Given the description of an element on the screen output the (x, y) to click on. 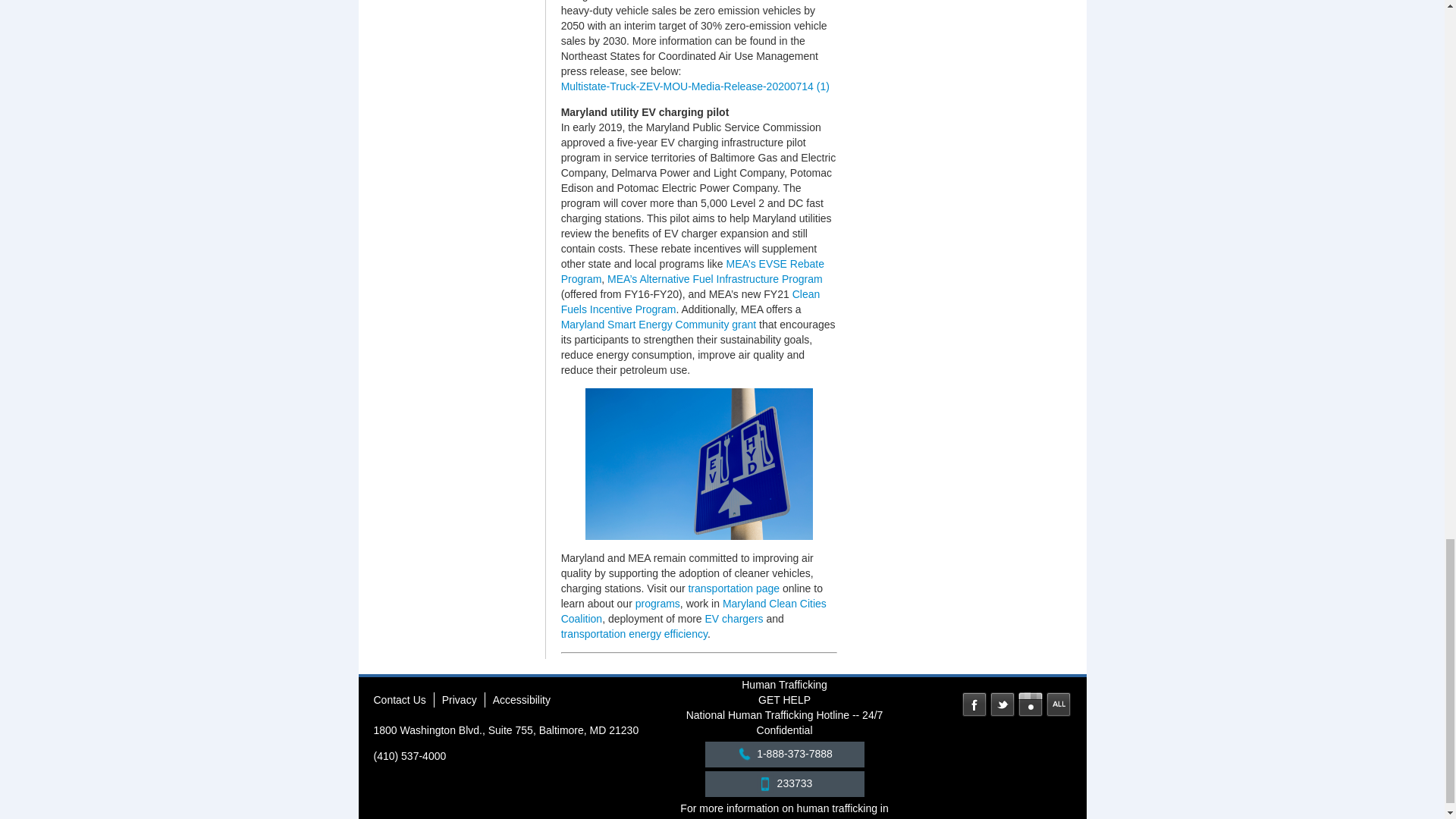
Clean Fuels Incentive Program (690, 301)
Twitter (1002, 704)
MD Social Media Directory (1058, 704)
Instagram (1029, 704)
Facebook (974, 704)
Maryland Smart Energy Community grant (658, 324)
